Given the description of an element on the screen output the (x, y) to click on. 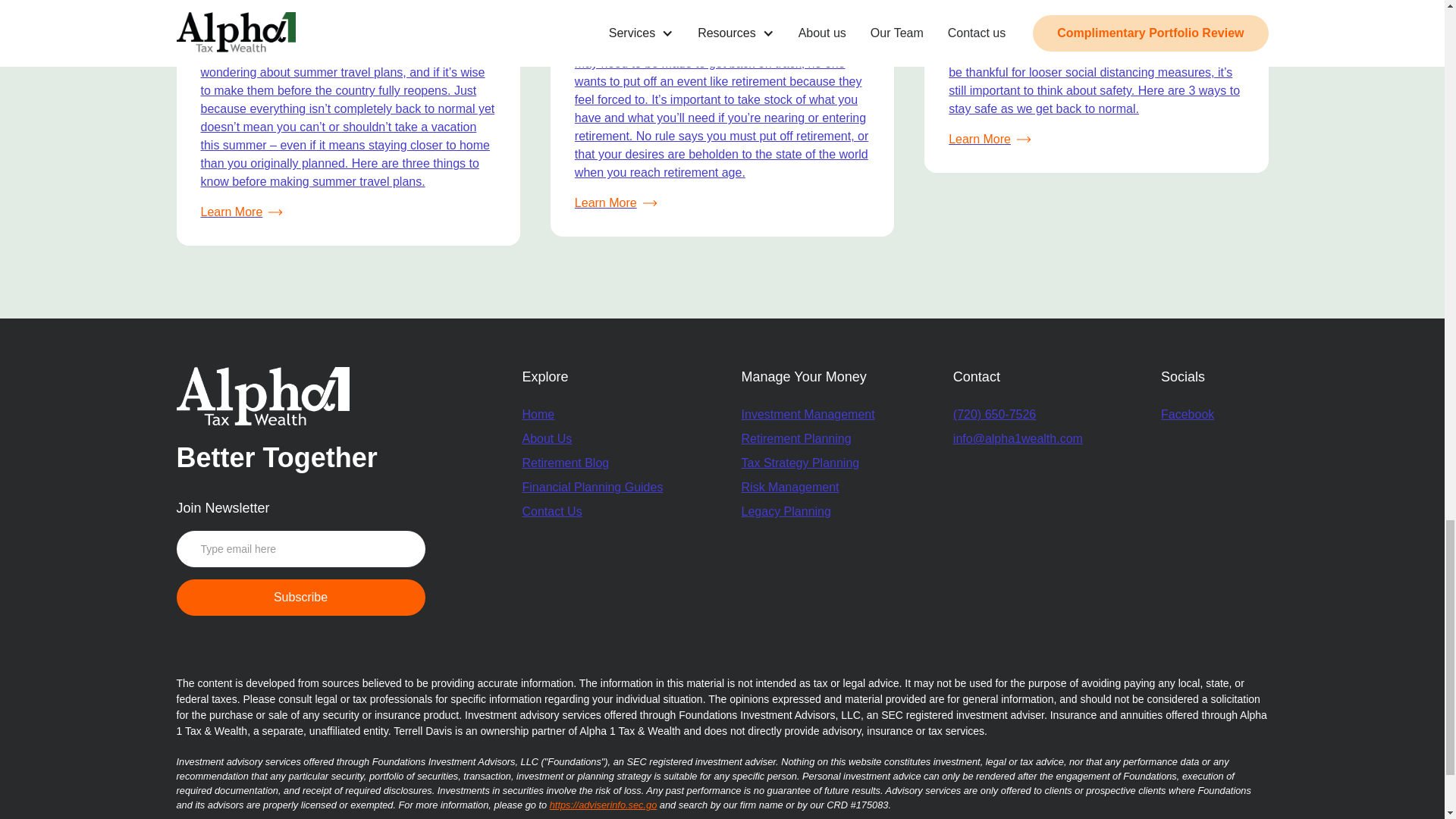
Facebook (1187, 414)
Risk Management (808, 487)
Contact Us (550, 511)
Retirement Planning (808, 438)
Retirement Blog (564, 463)
Subscribe (300, 597)
Subscribe (300, 597)
Financial Planning Guides (591, 487)
Tax Strategy Planning (808, 463)
Legacy Planning (808, 511)
About Us (546, 438)
Home (537, 414)
Investment Management (808, 414)
